Given the description of an element on the screen output the (x, y) to click on. 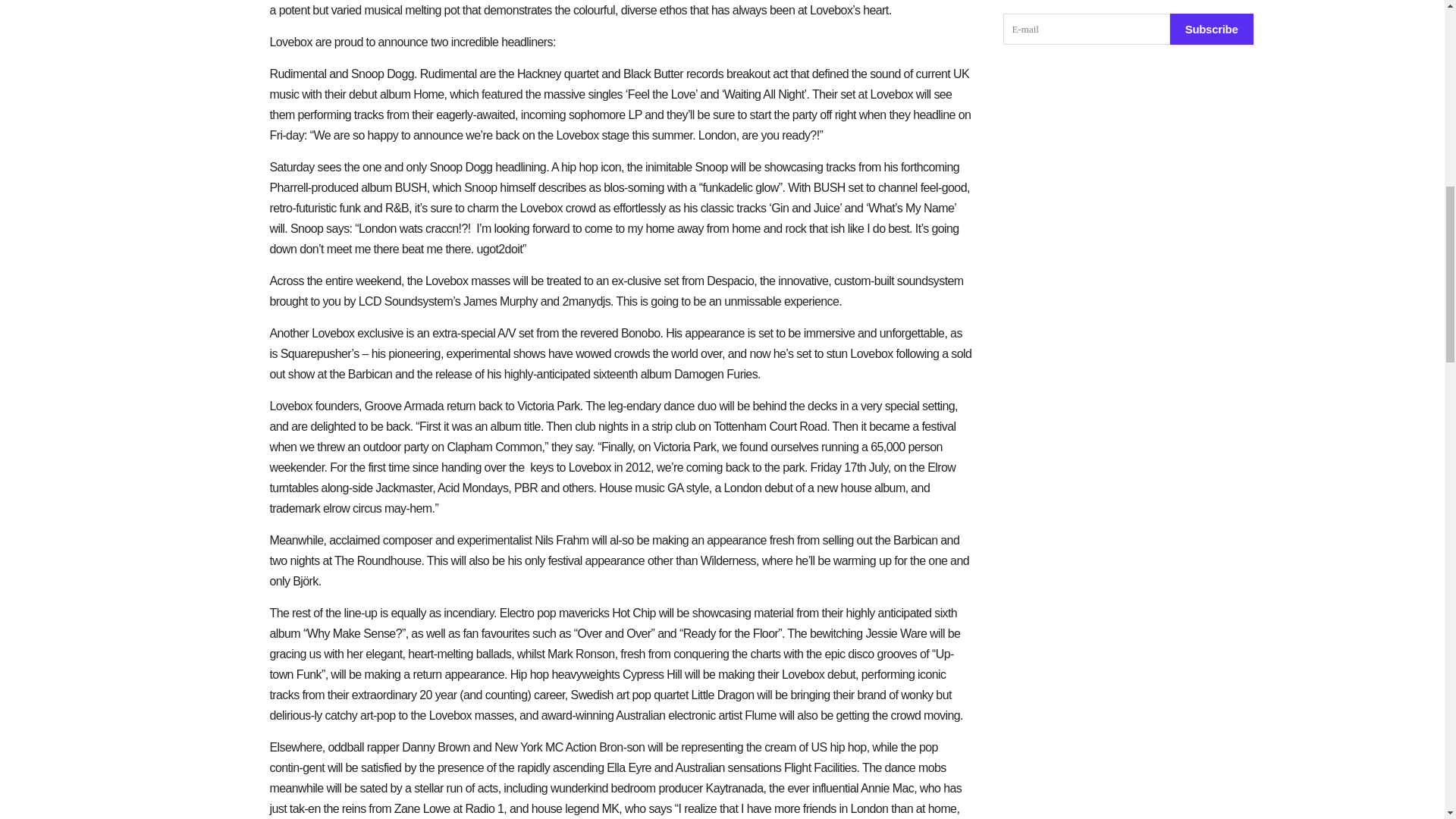
E-mail (1086, 29)
Subscribe (1211, 29)
